Given the description of an element on the screen output the (x, y) to click on. 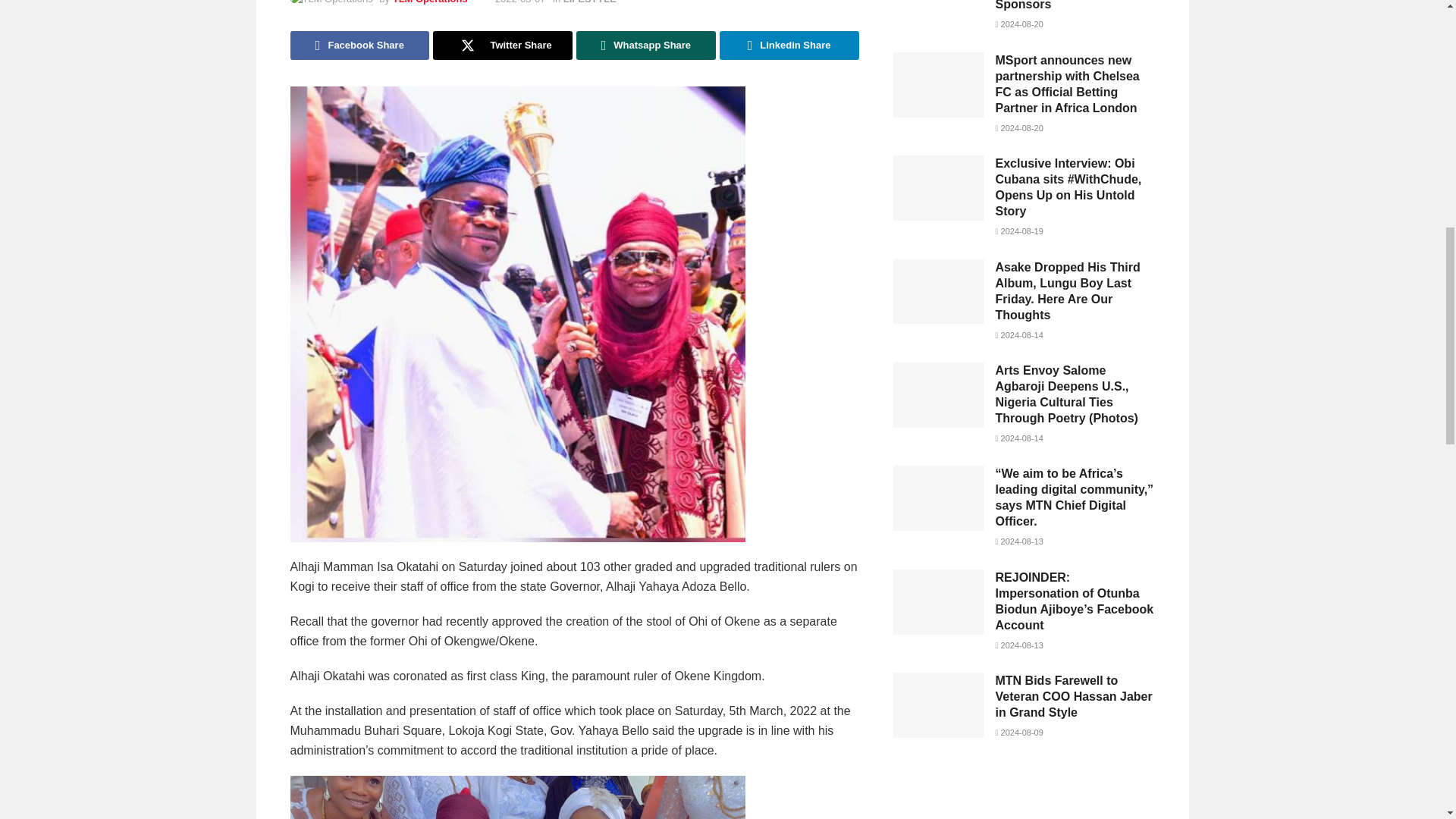
Twitter Share (502, 45)
2022-03-07 (520, 2)
Facebook Share (359, 45)
LIFESTYLE (589, 2)
Linkedin Share (789, 45)
TLM Operations (430, 2)
Whatsapp Share (646, 45)
